Given the description of an element on the screen output the (x, y) to click on. 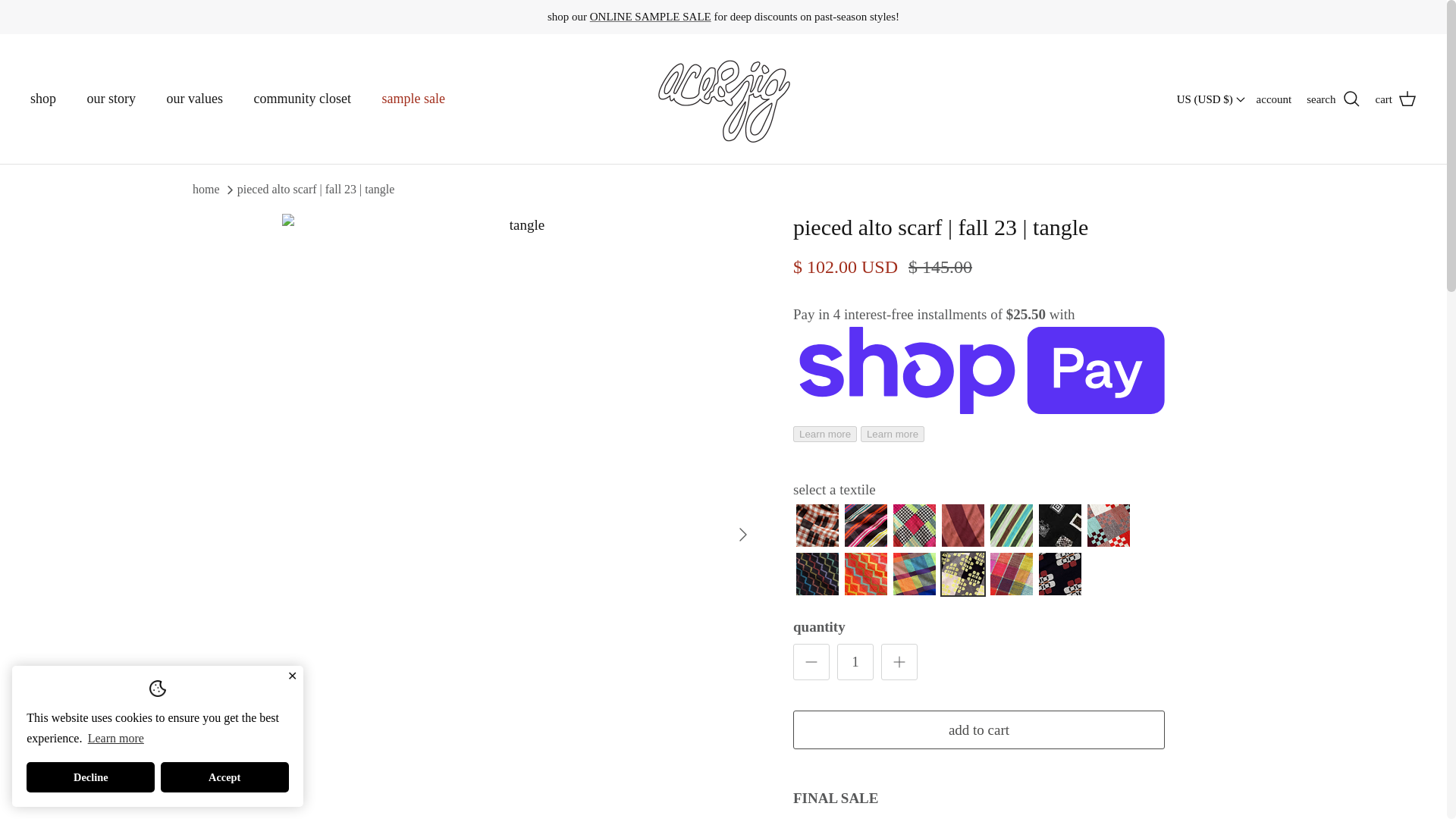
Learn more (115, 738)
ONLINE SAMPLE SALE (650, 16)
Accept (224, 777)
search (1332, 98)
sample sale (650, 16)
right (742, 534)
Decline (90, 777)
shop (42, 99)
cart (1395, 98)
minus (811, 661)
our story (111, 99)
1 (855, 661)
our values (193, 99)
plus (898, 661)
sample sale (413, 99)
